Given the description of an element on the screen output the (x, y) to click on. 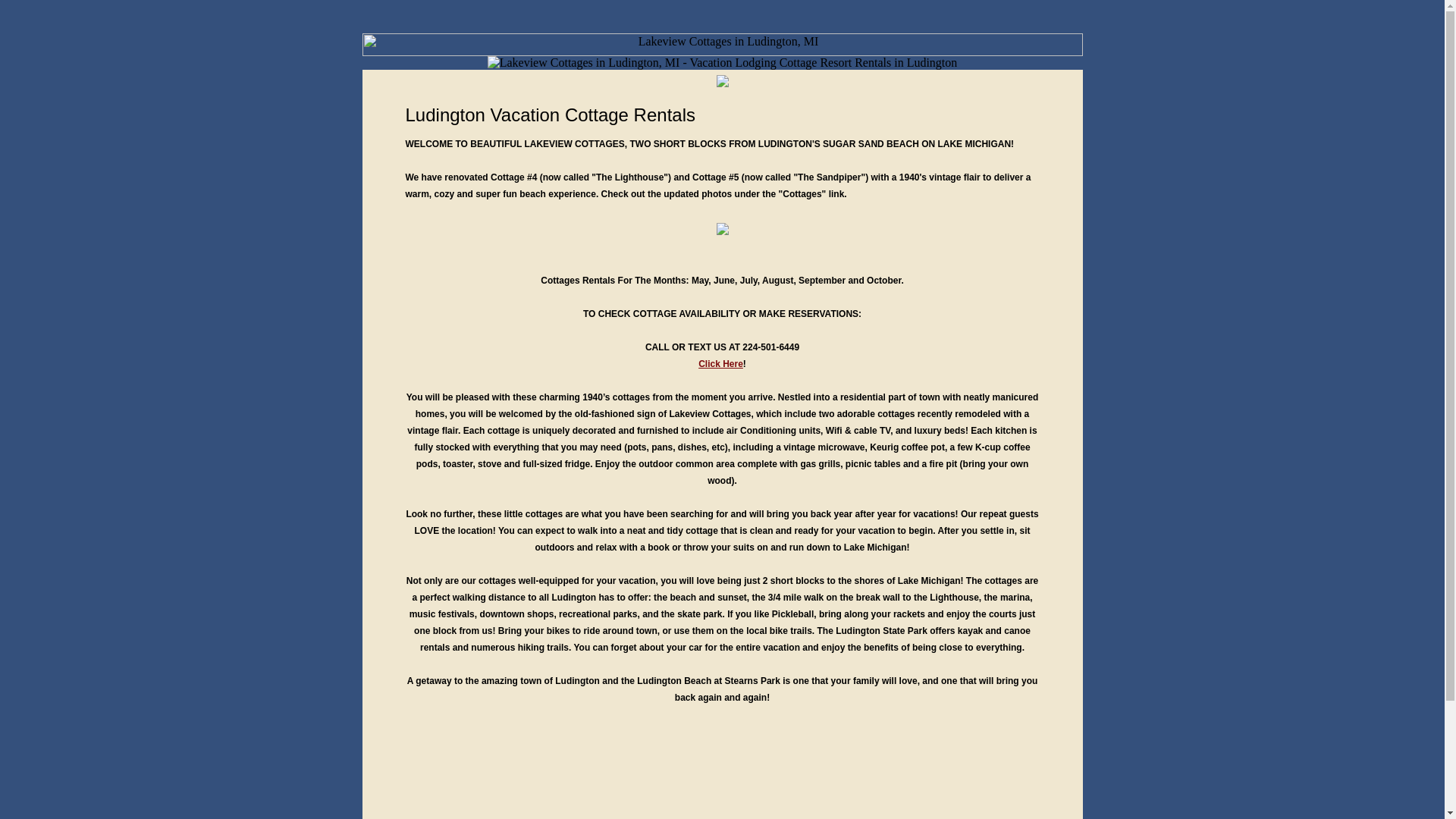
Click Here (720, 363)
